Given the description of an element on the screen output the (x, y) to click on. 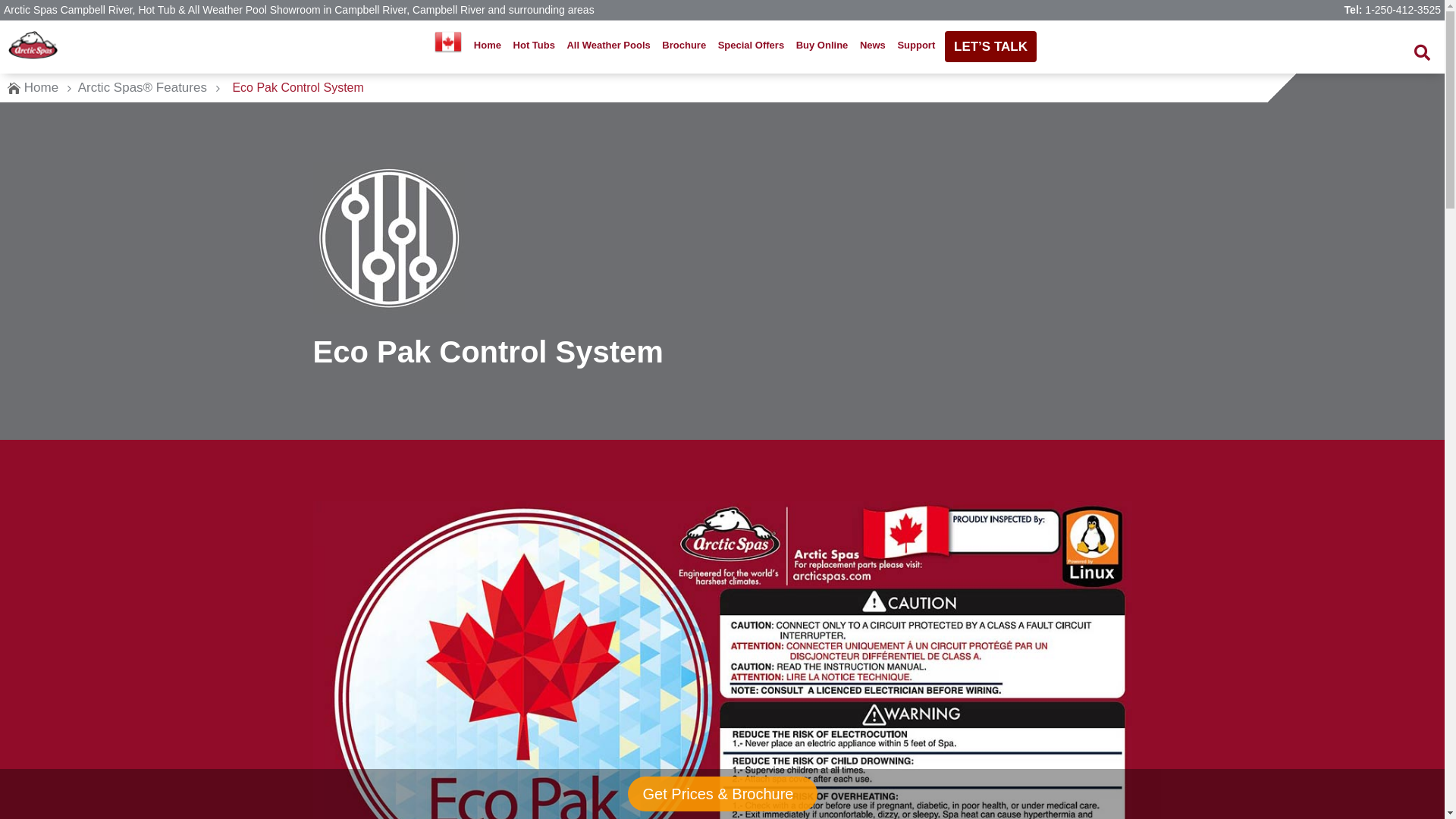
All Weather Pools Element type: text (608, 45)
Support Element type: text (915, 45)
Choose Your Location Element type: hover (447, 45)
Home Element type: text (41, 87)
Home Element type: text (487, 45)
Get Prices & Brochure Element type: text (721, 793)
1-250-412-3525 Element type: text (1402, 9)
News Element type: text (872, 45)
Buy Online Element type: text (821, 45)
Hot Tubs Element type: text (533, 45)
Brochure Element type: text (683, 45)
Choose Your Location Element type: hover (447, 41)
Special Offers Element type: text (751, 45)
